Given the description of an element on the screen output the (x, y) to click on. 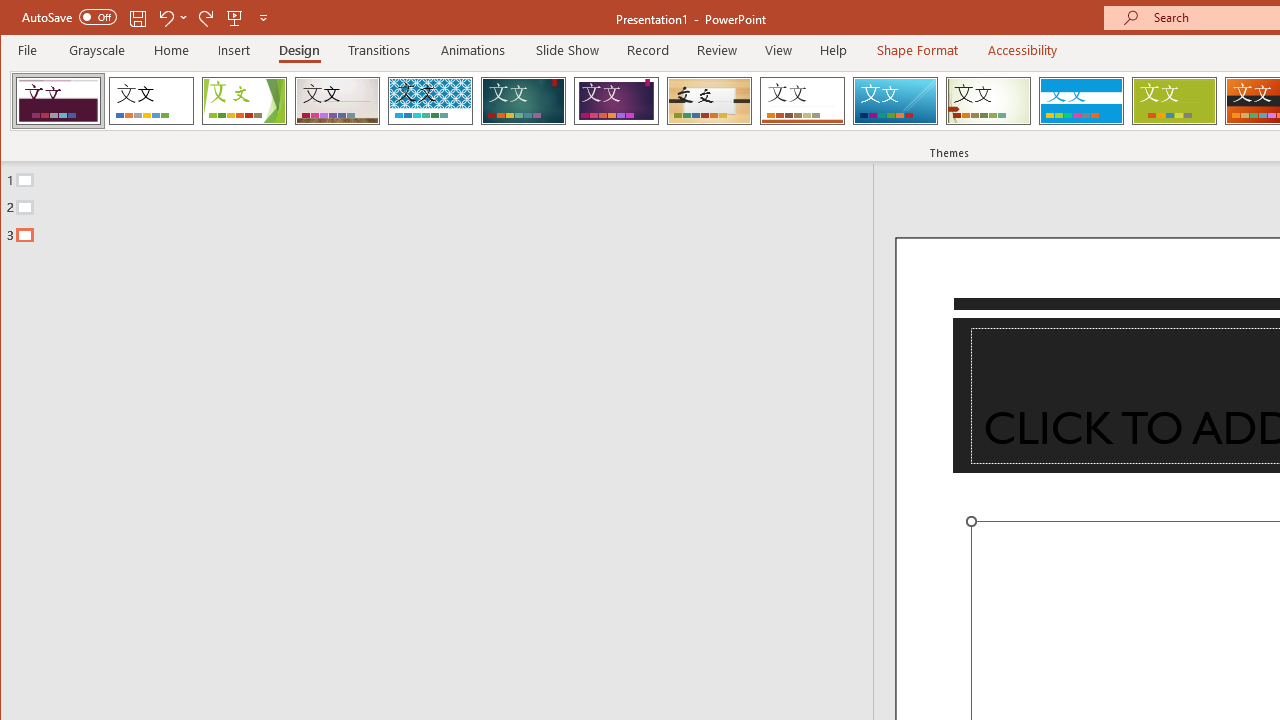
Integral (430, 100)
Ion (523, 100)
